Given the description of an element on the screen output the (x, y) to click on. 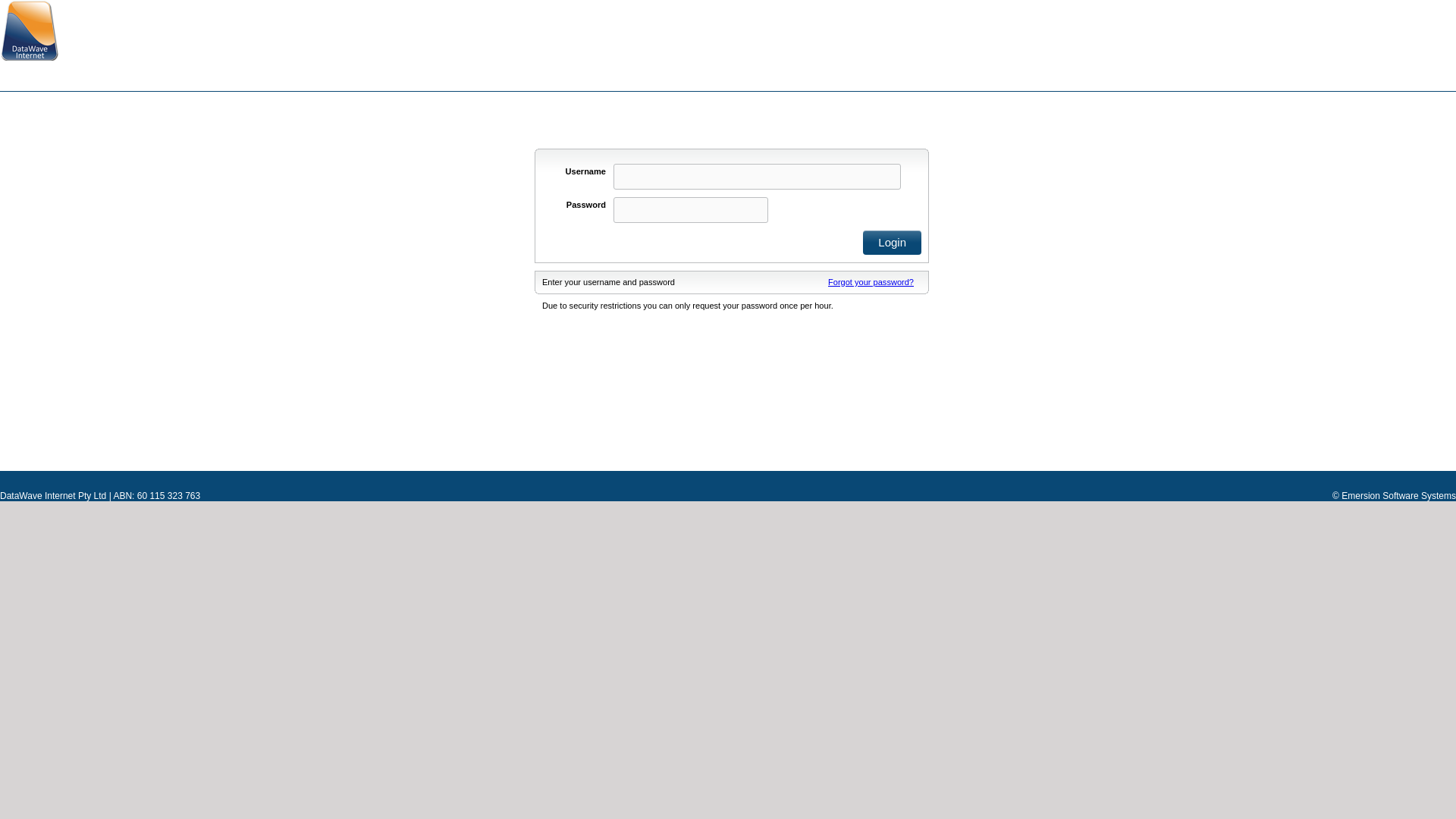
image Element type: hover (29, 30)
Login Element type: text (891, 242)
Forgot your password? Element type: text (870, 281)
